Given the description of an element on the screen output the (x, y) to click on. 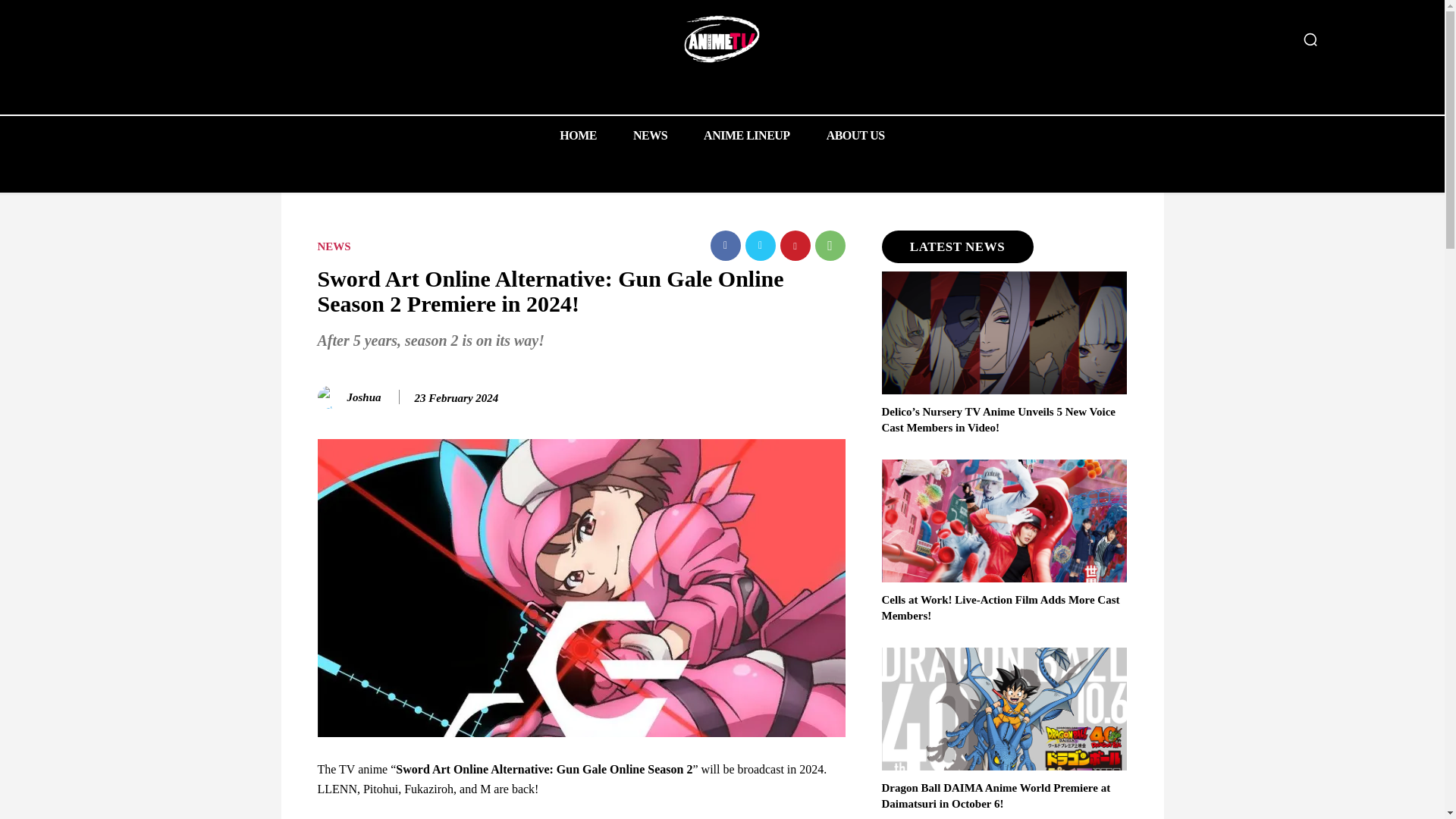
Facebook (724, 245)
ABOUT US (855, 135)
HOME (577, 135)
Joshua (364, 397)
Joshua (330, 396)
NEWS (333, 246)
Twitter (759, 245)
ANIME LINEUP (746, 135)
Cells at Work! Live-Action Film Adds More Cast Members! (999, 607)
NEWS (649, 135)
WhatsApp (828, 245)
Pinterest (793, 245)
